Given the description of an element on the screen output the (x, y) to click on. 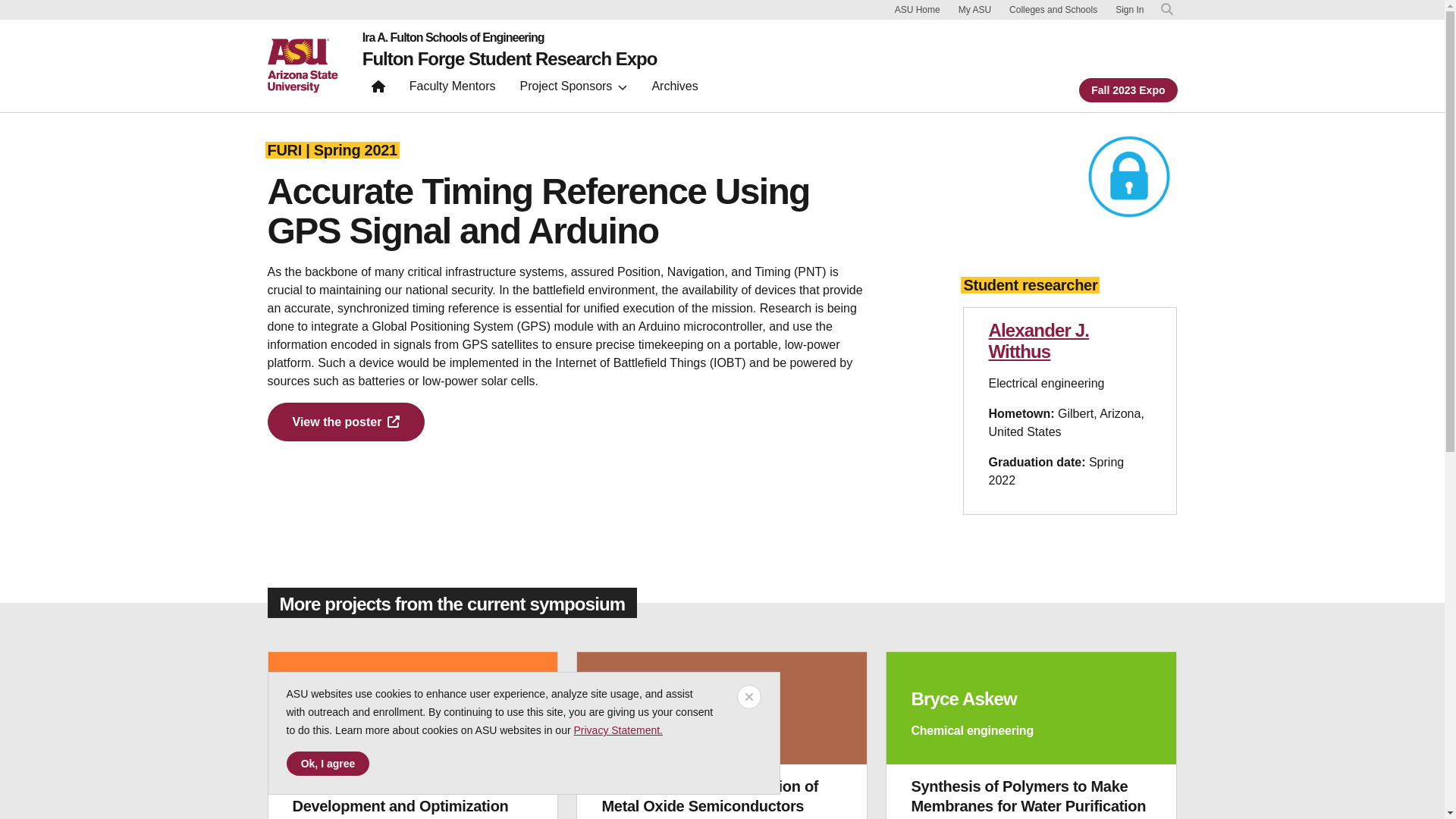
Archives (674, 89)
Project Sponsors (574, 89)
Ira A. Fulton Schools of Engineering home page (510, 37)
Fall 2023 Expo (1127, 88)
ASU Home (917, 9)
Alexander J. Witthus (1038, 340)
Fulton Forge Student Research Expo home page (378, 89)
Faculty Mentors (452, 89)
ASU home page (301, 65)
Project Sponsors (574, 89)
Sign In (1128, 9)
Fulton Forge Student Research Expo (510, 58)
